Given the description of an element on the screen output the (x, y) to click on. 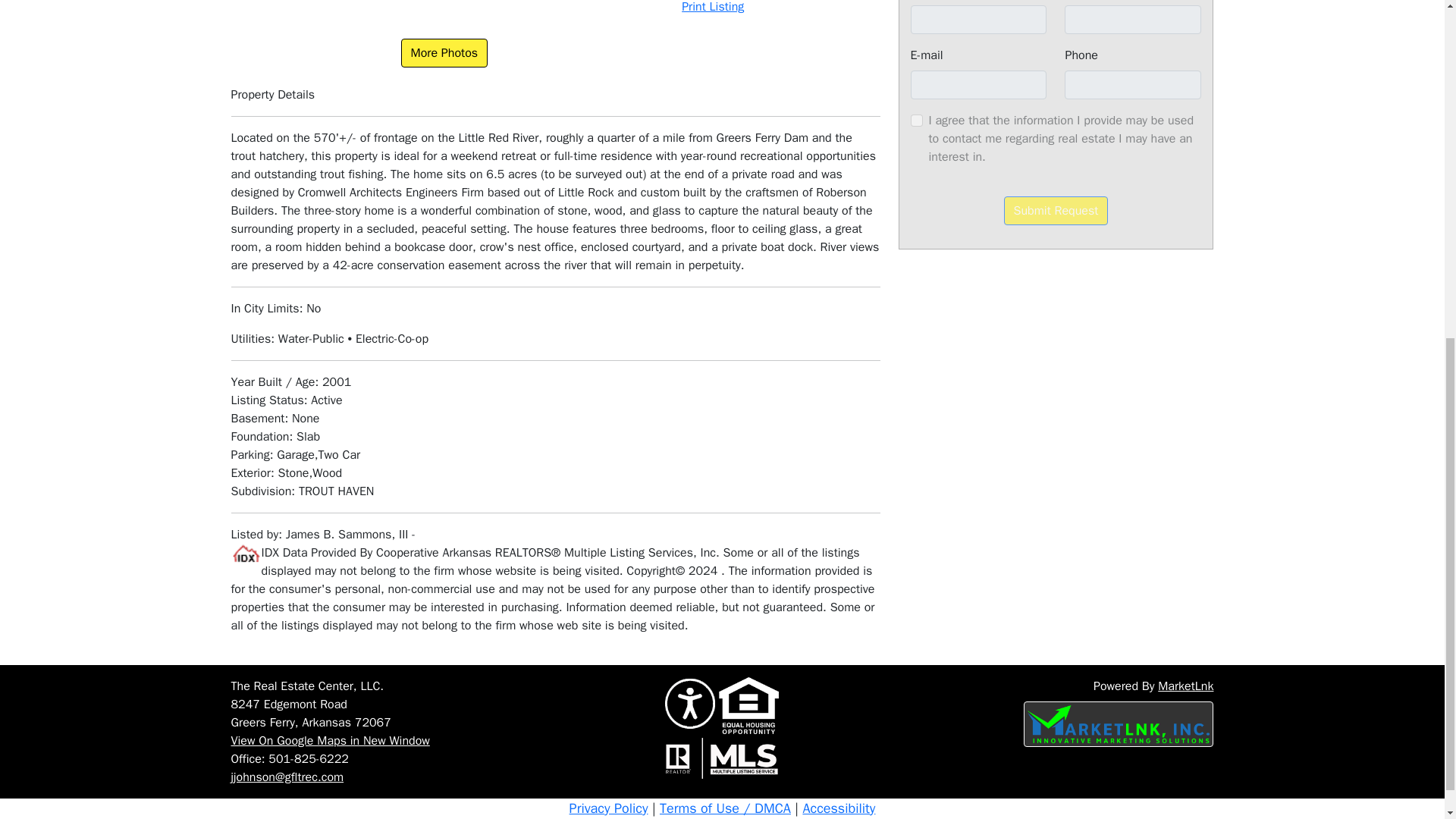
More Photos (444, 52)
on (915, 120)
Submit Request (1056, 210)
